Given the description of an element on the screen output the (x, y) to click on. 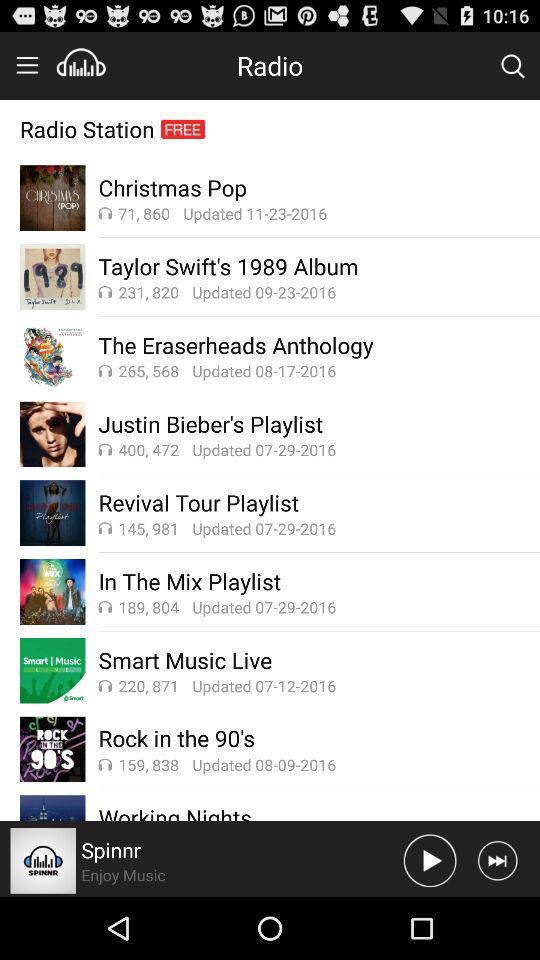
select the text spinnr enjoy music (241, 860)
